Given the description of an element on the screen output the (x, y) to click on. 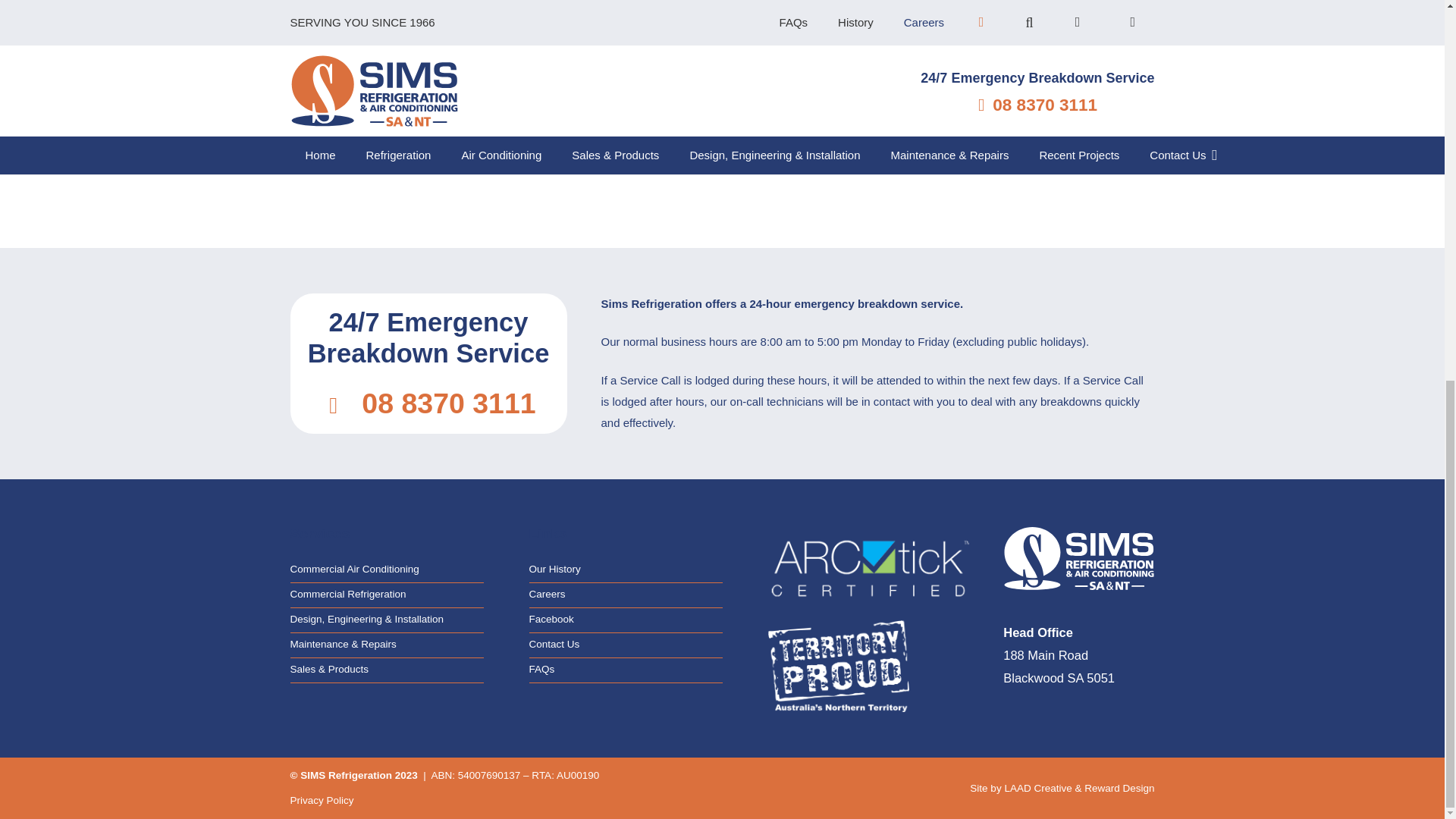
Commercial Refrigeration (347, 593)
Read More (429, 132)
Commercial Air Conditioning (354, 568)
Careers (547, 593)
Back to top (1413, 137)
Our History (554, 568)
08 8370 3111 (448, 403)
